Given the description of an element on the screen output the (x, y) to click on. 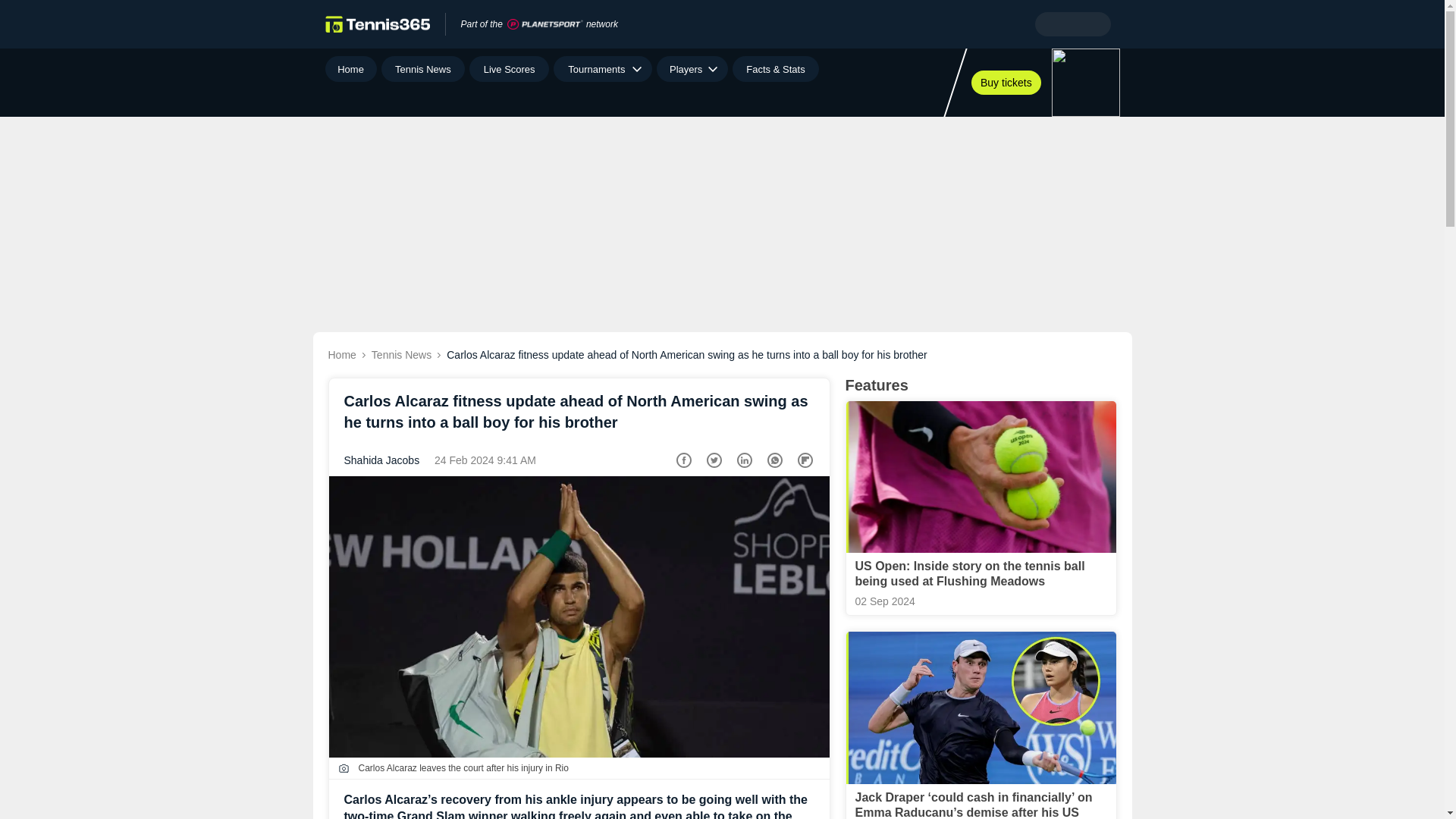
Players (692, 68)
Buy tickets (1006, 82)
Home (349, 68)
Tournaments (601, 68)
Tennis News (423, 68)
Live Scores (508, 68)
